Given the description of an element on the screen output the (x, y) to click on. 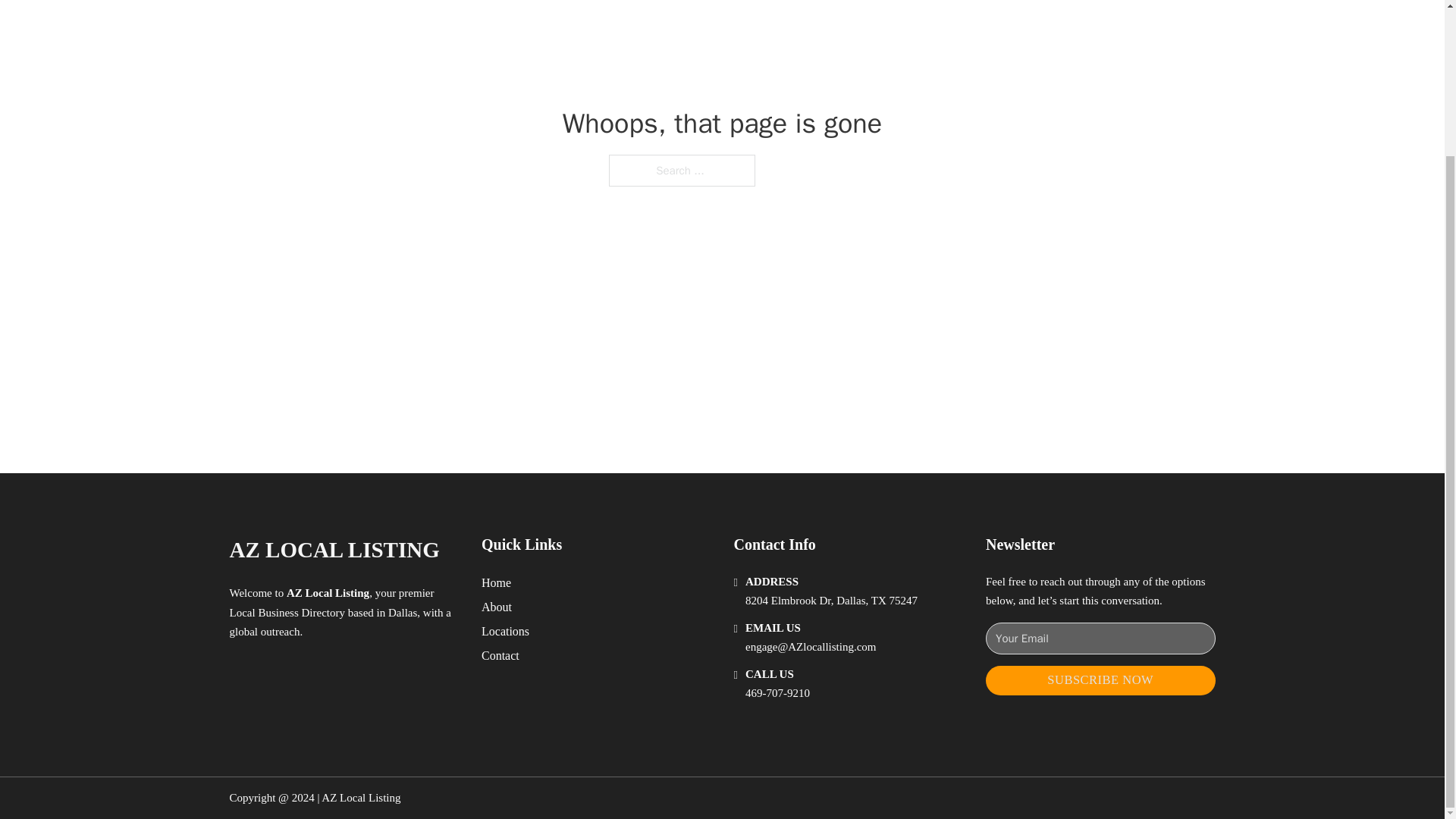
SUBSCRIBE NOW (1100, 680)
Locations (505, 630)
Contact (500, 655)
About (496, 607)
469-707-9210 (777, 693)
Home (496, 582)
AZ LOCAL LISTING (333, 549)
